Given the description of an element on the screen output the (x, y) to click on. 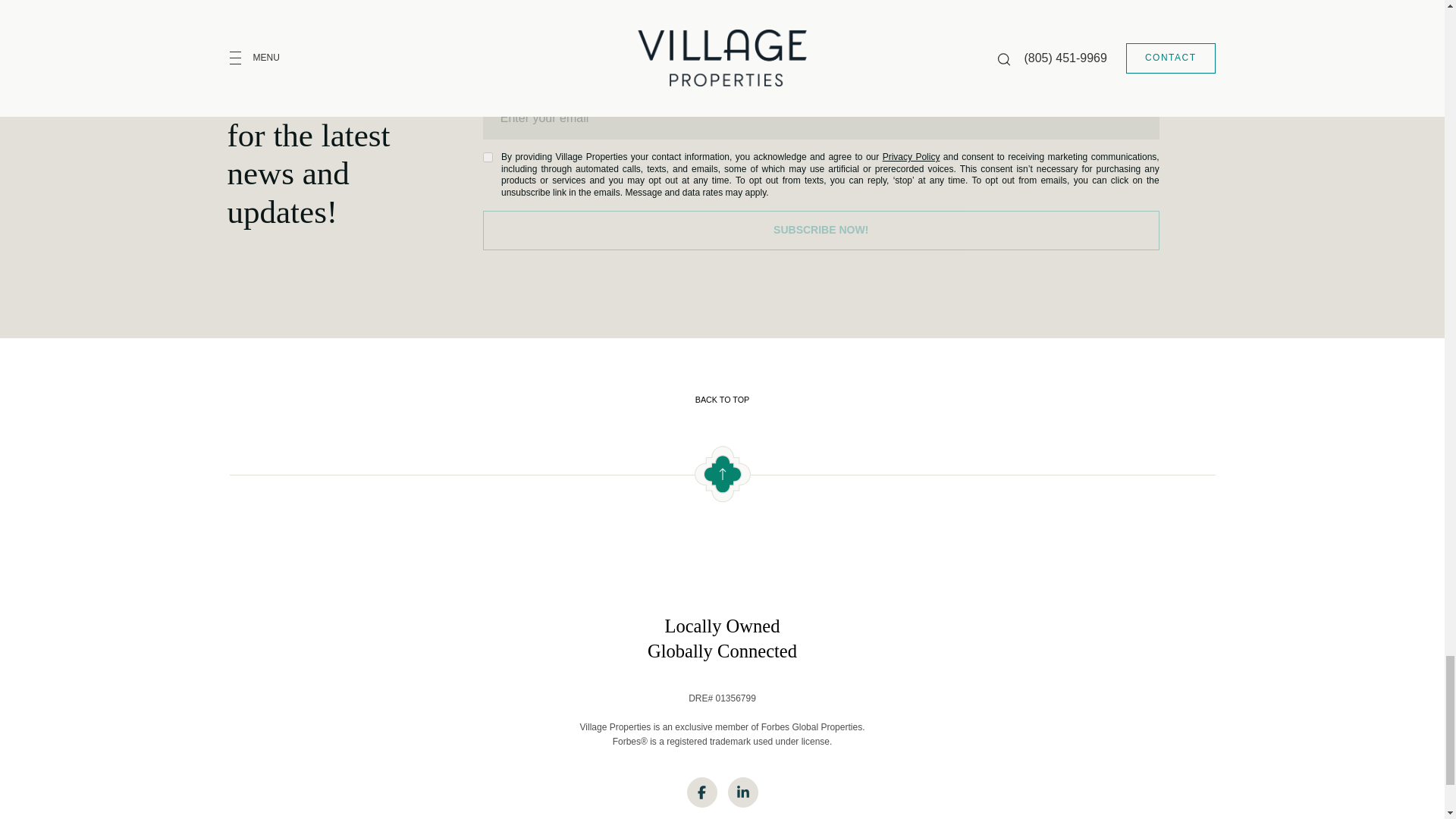
Privacy Policy (911, 156)
BACK TO TOP (721, 399)
SUBSCRIBE NOW! (820, 230)
on (488, 157)
